Given the description of an element on the screen output the (x, y) to click on. 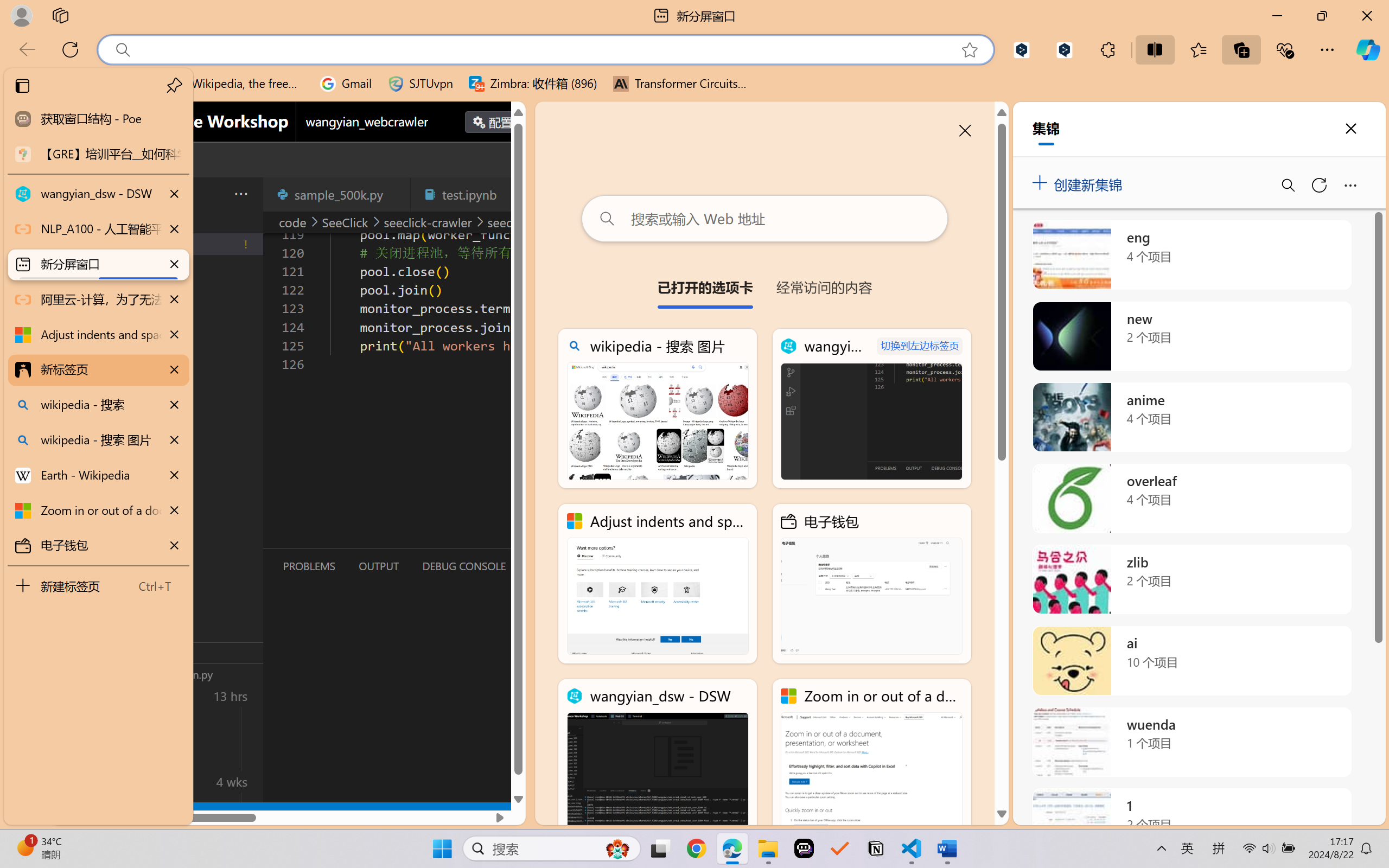
Close (Ctrl+F4) (512, 194)
Manage (73, 755)
Transformer Circuits Thread (680, 83)
Search (Ctrl+Shift+F) (73, 281)
Terminal (Ctrl+`) (553, 565)
remote (66, 812)
